Given the description of an element on the screen output the (x, y) to click on. 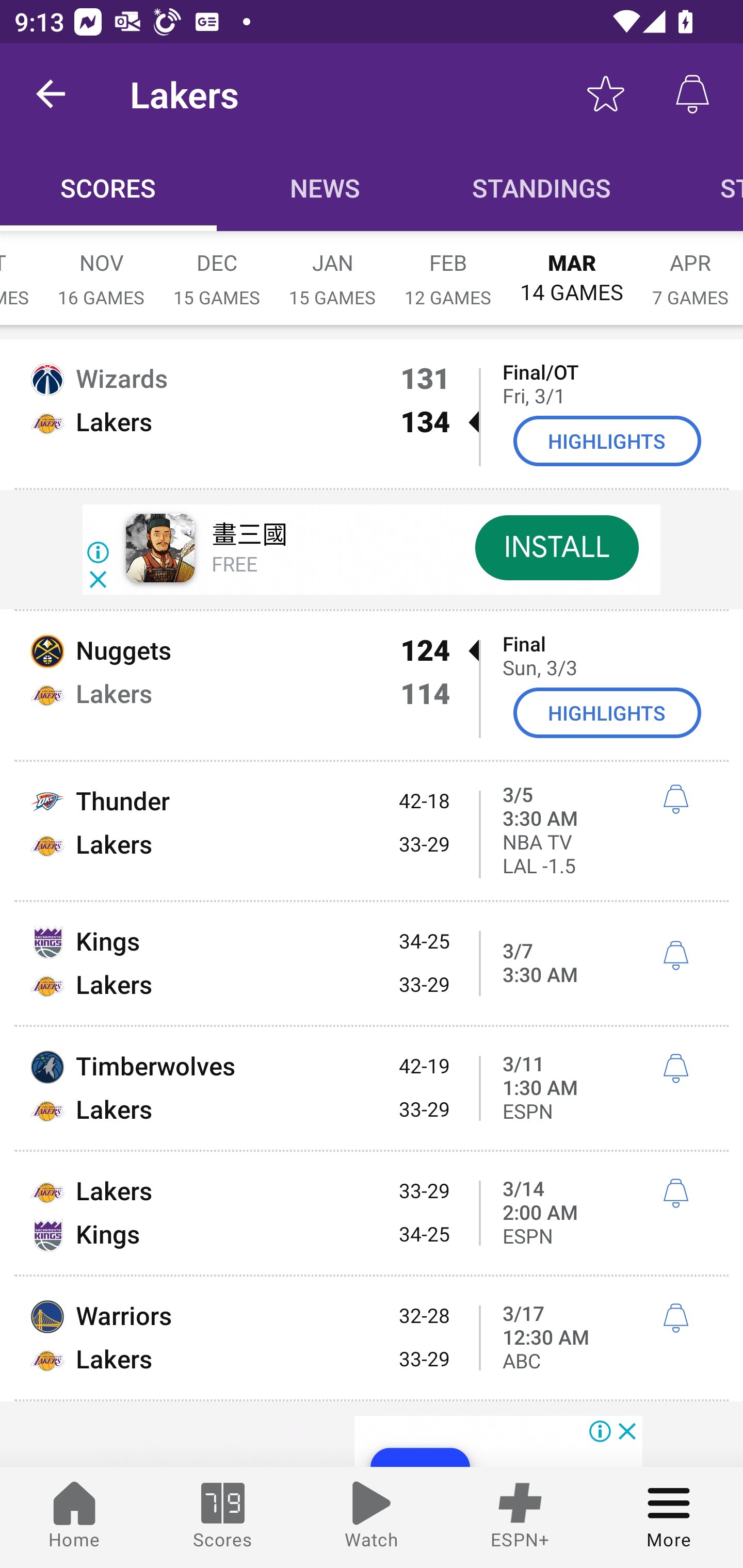
back.button (50, 93)
Favorite toggle (605, 93)
Alerts (692, 93)
News NEWS (324, 187)
Standings STANDINGS (541, 187)
NOV 16 GAMES (101, 268)
DEC 15 GAMES (216, 268)
JAN 15 GAMES (332, 268)
FEB 12 GAMES (447, 268)
MAR 14 GAMES (571, 267)
APR 7 GAMES (690, 268)
HIGHLIGHTS (607, 440)
INSTALL (556, 547)
畫三國 (249, 536)
FREE (234, 565)
Nuggets 124  Lakers 114 Final Sun, 3/3 HIGHLIGHTS (371, 685)
HIGHLIGHTS (607, 712)
í (675, 799)
Kings 34-25 Lakers 33-29 3/7 3:30 AM í (371, 963)
í (675, 955)
í (675, 1068)
Lakers 33-29 Kings 34-25 3/14 2:00 AM í ESPN (371, 1213)
í (675, 1193)
Warriors 32-28 Lakers 33-29 3/17 12:30 AM í ABC (371, 1337)
í (675, 1318)
Home (74, 1517)
Scores (222, 1517)
Watch (371, 1517)
ESPN+ (519, 1517)
